Given the description of an element on the screen output the (x, y) to click on. 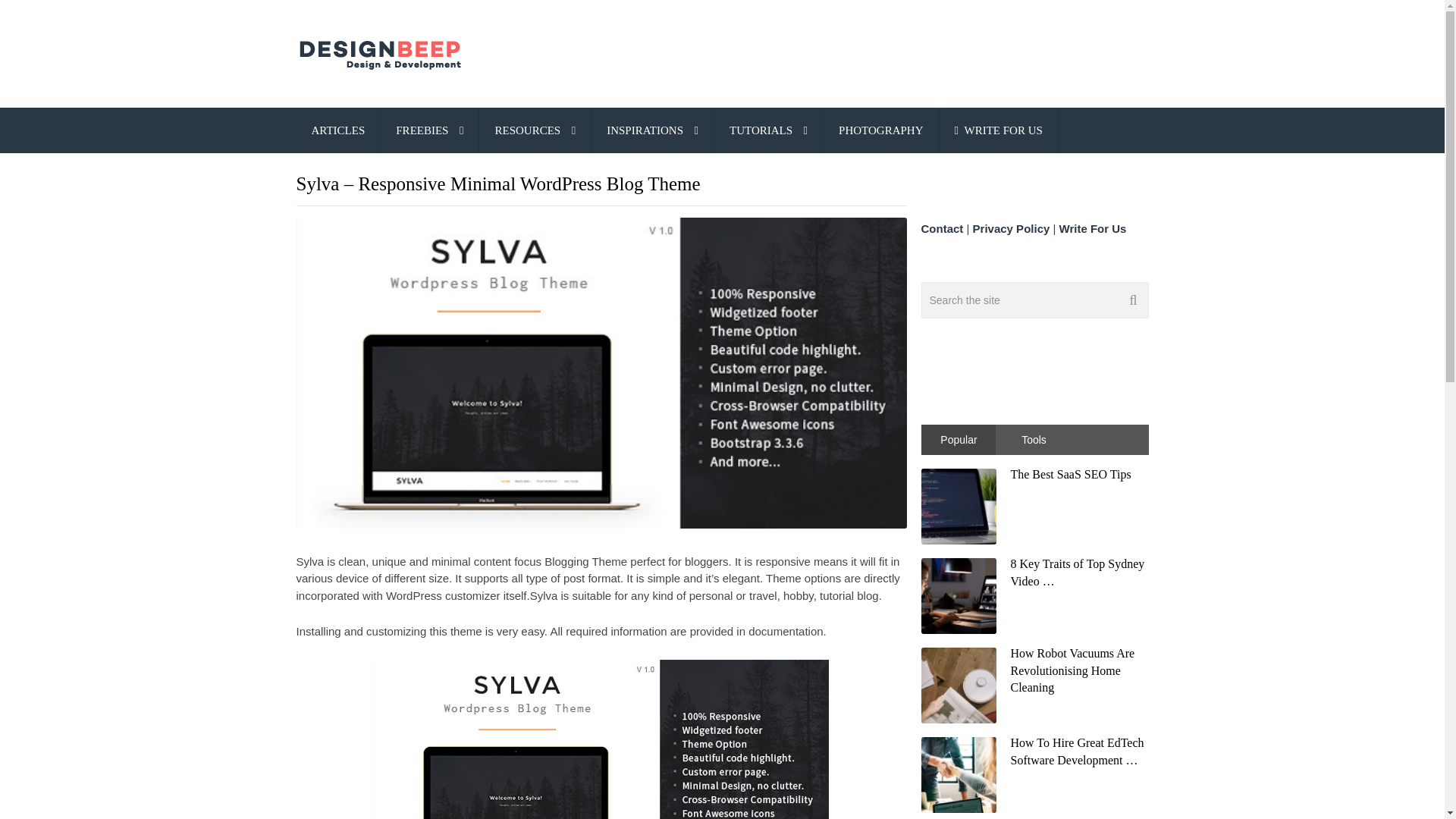
RESOURCES (535, 130)
ARTICLES (337, 130)
FREEBIES (429, 130)
INSPIRATIONS (652, 130)
PHOTOGRAPHY (880, 130)
WRITE FOR US (998, 130)
TUTORIALS (768, 130)
